Given the description of an element on the screen output the (x, y) to click on. 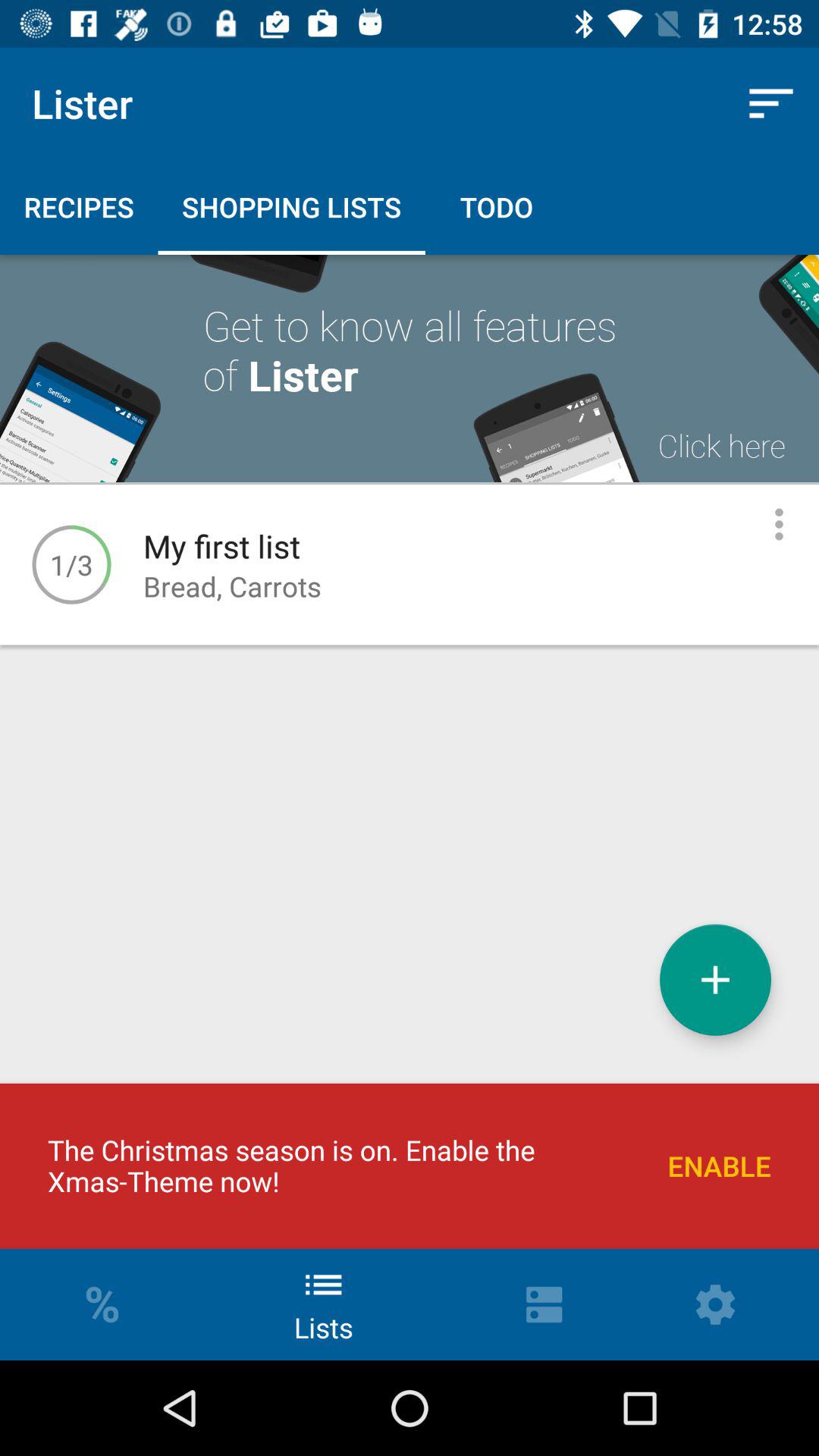
turn on the icon below the bread, carrots (715, 979)
